Given the description of an element on the screen output the (x, y) to click on. 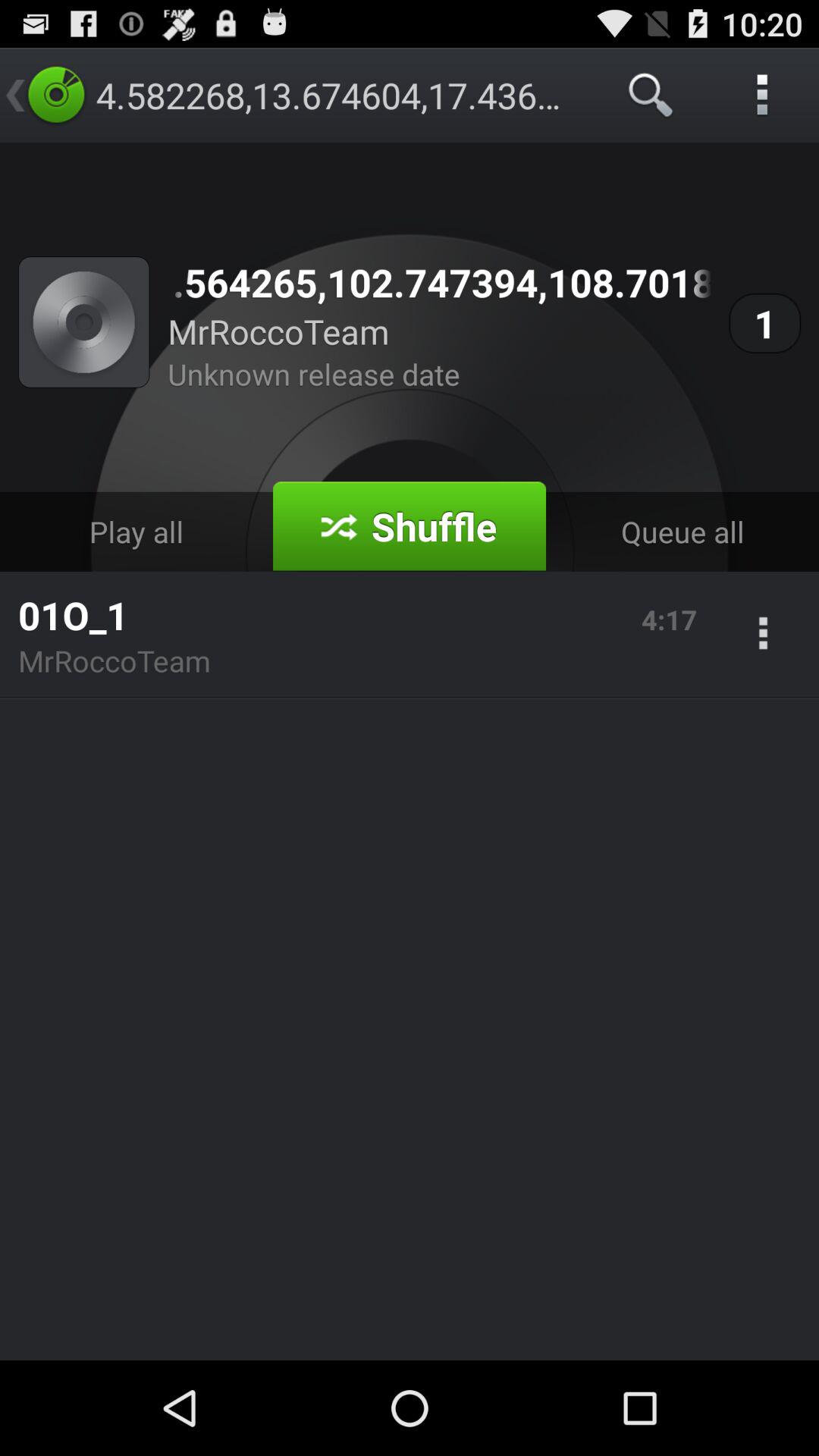
flip to the queue all item (682, 531)
